Given the description of an element on the screen output the (x, y) to click on. 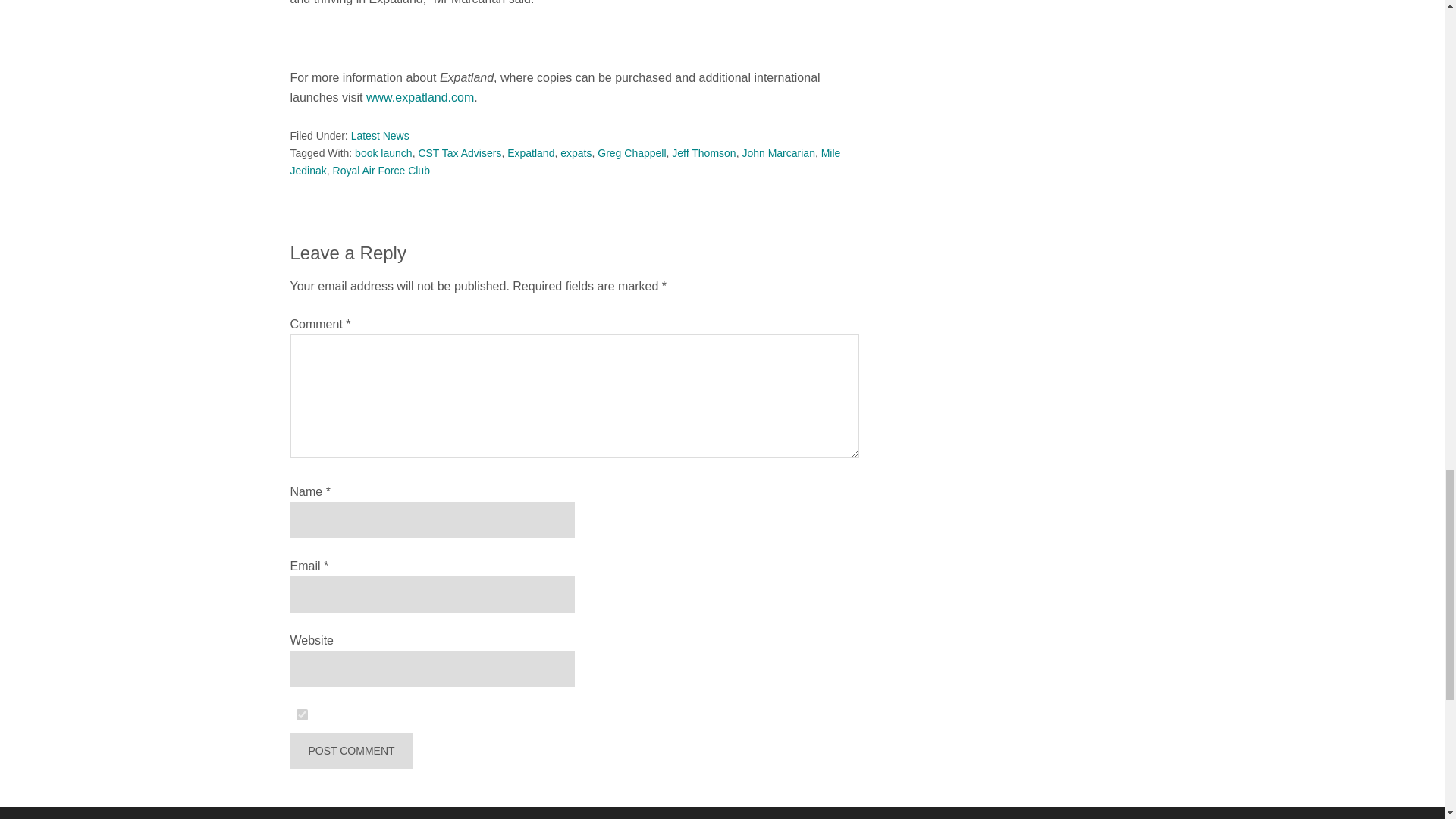
Post Comment (350, 750)
Jeff Thomson (703, 152)
Mile Jedinak (564, 161)
Royal Air Force Club (381, 170)
CST Tax Advisers (458, 152)
on (302, 714)
expats (575, 152)
Post Comment (350, 750)
www.expatland.com (420, 97)
book launch (383, 152)
Expatland website (420, 97)
Latest News (379, 135)
Greg Chappell (630, 152)
John Marcarian (778, 152)
Expatland (530, 152)
